Given the description of an element on the screen output the (x, y) to click on. 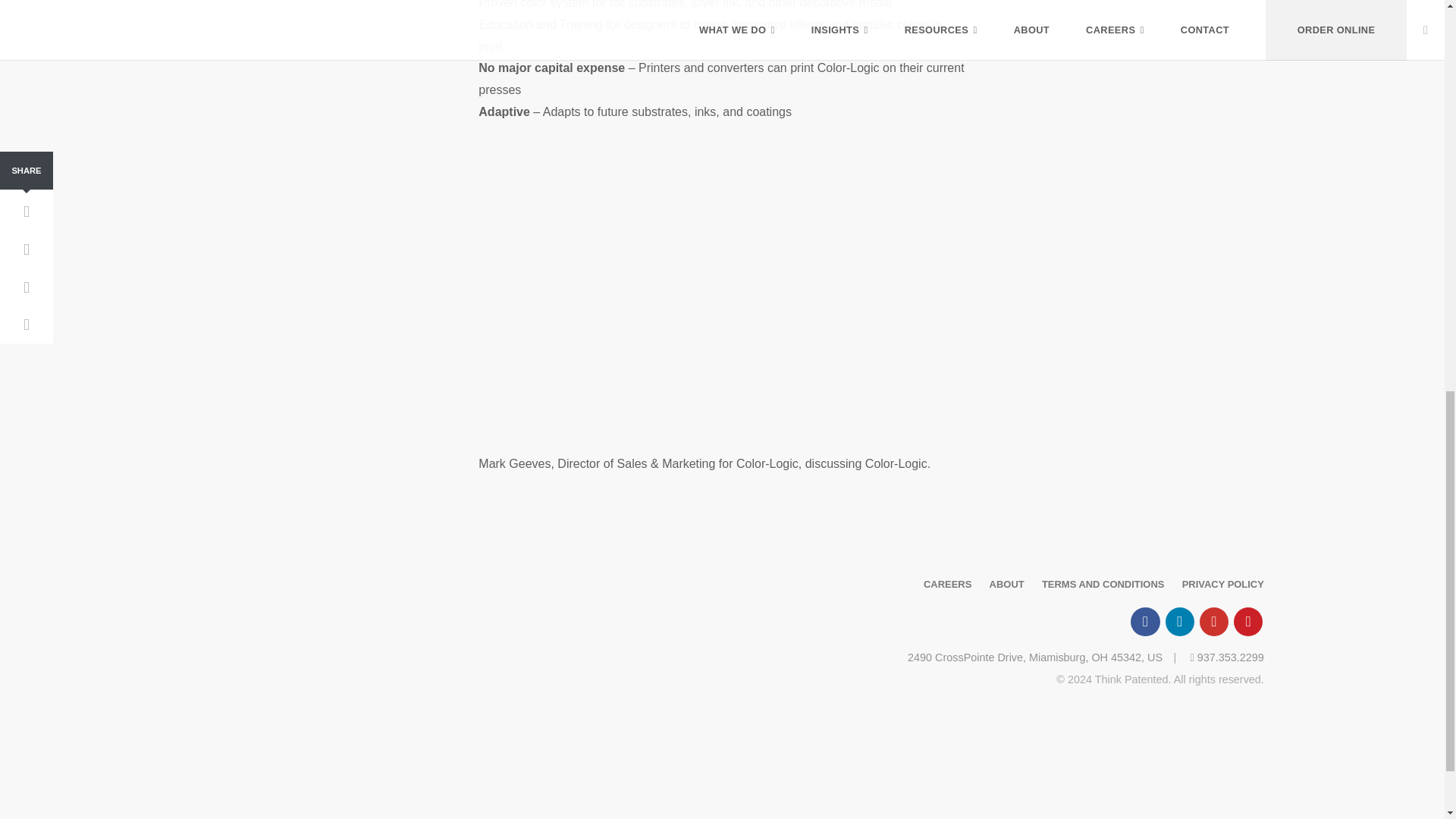
ABOUT (1007, 583)
PRIVACY POLICY (1222, 583)
TERMS AND CONDITIONS (1102, 583)
CAREERS (947, 583)
